Given the description of an element on the screen output the (x, y) to click on. 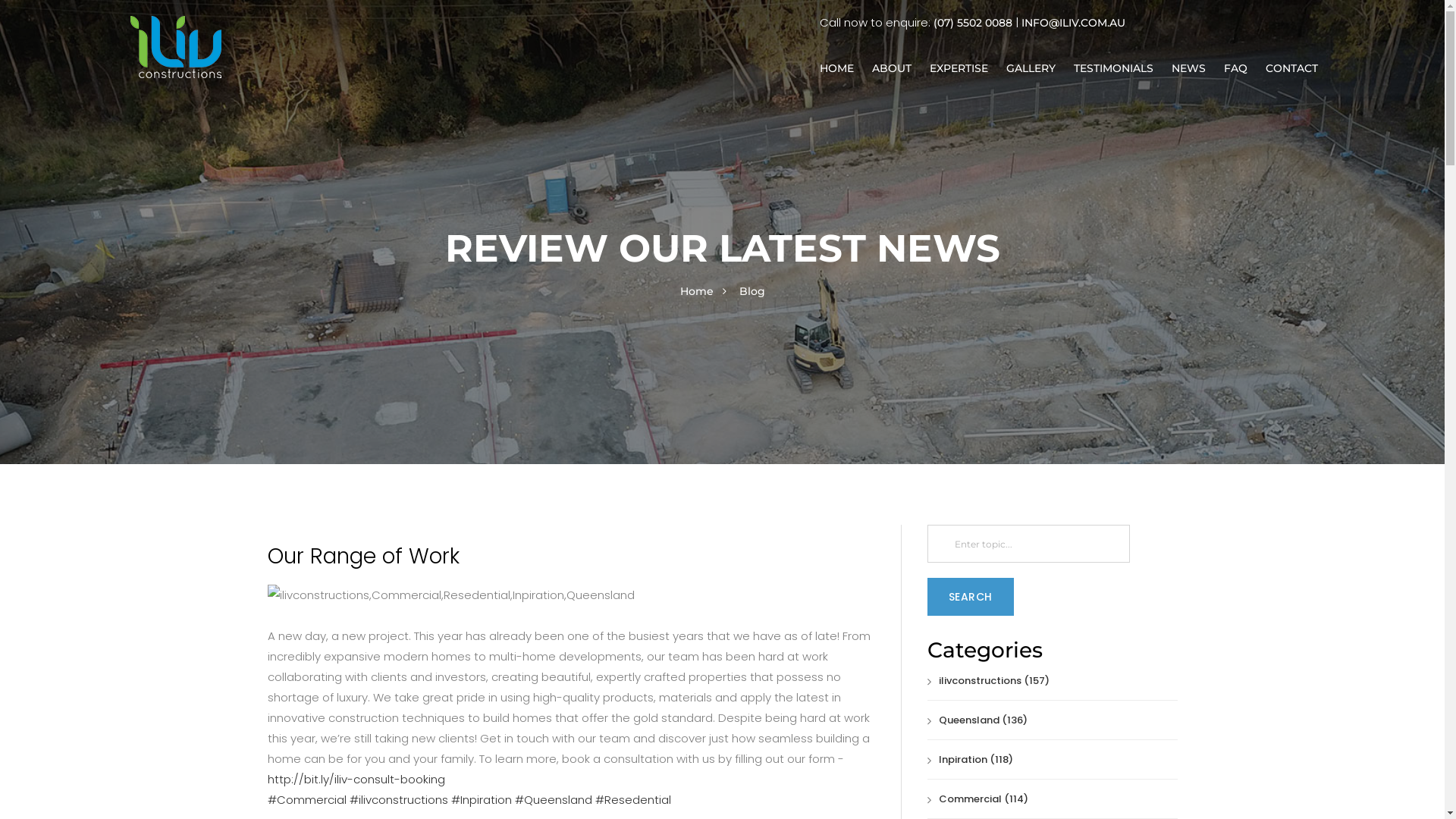
Commercial (114) Element type: text (976, 798)
#Inpiration Element type: text (482, 799)
EXPERTISE Element type: text (958, 68)
NEWS Element type: text (1188, 68)
http://bit.ly/iliv-consult-booking Element type: text (355, 779)
FAQ Element type: text (1235, 68)
Home Element type: text (695, 291)
(07) 5502 0088 Element type: text (972, 22)
CONTACT Element type: text (1291, 68)
INFO@ILIV.COM.AU Element type: text (1073, 22)
#Queensland Element type: text (554, 799)
ABOUT Element type: text (891, 68)
#Resedential Element type: text (632, 799)
#ilivconstructions Element type: text (399, 799)
Queensland (136) Element type: text (976, 719)
#Commercial Element type: text (307, 799)
GALLERY Element type: text (1030, 68)
Inpiration (118) Element type: text (969, 759)
Search Element type: text (969, 596)
HOME Element type: text (836, 68)
ilivconstructions (157) Element type: text (987, 680)
TESTIMONIALS Element type: text (1113, 68)
